Given the description of an element on the screen output the (x, y) to click on. 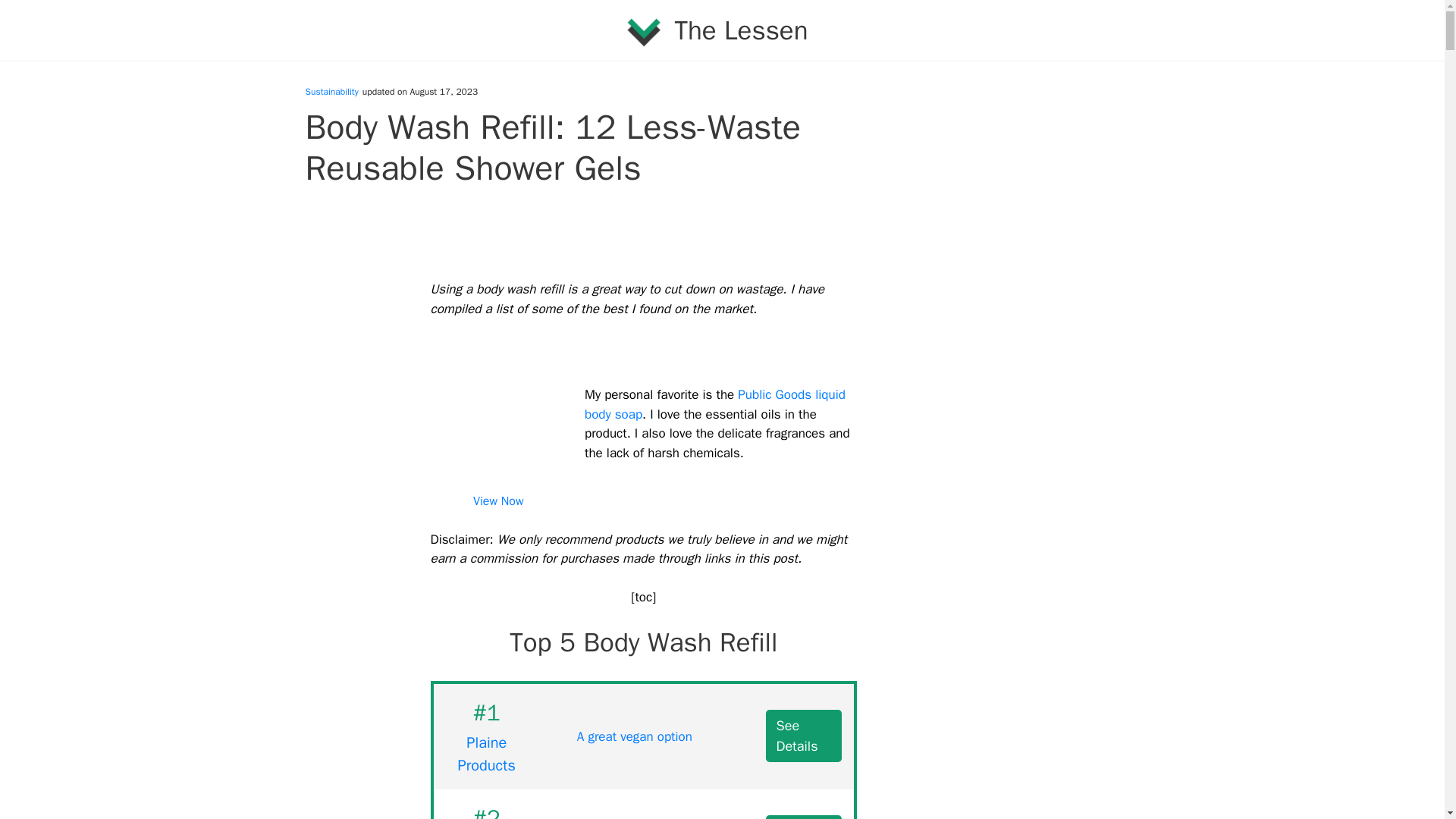
The Lessen (741, 30)
View Now (497, 501)
Sustainability (331, 91)
Public Goods liquid body soap (715, 405)
